Given the description of an element on the screen output the (x, y) to click on. 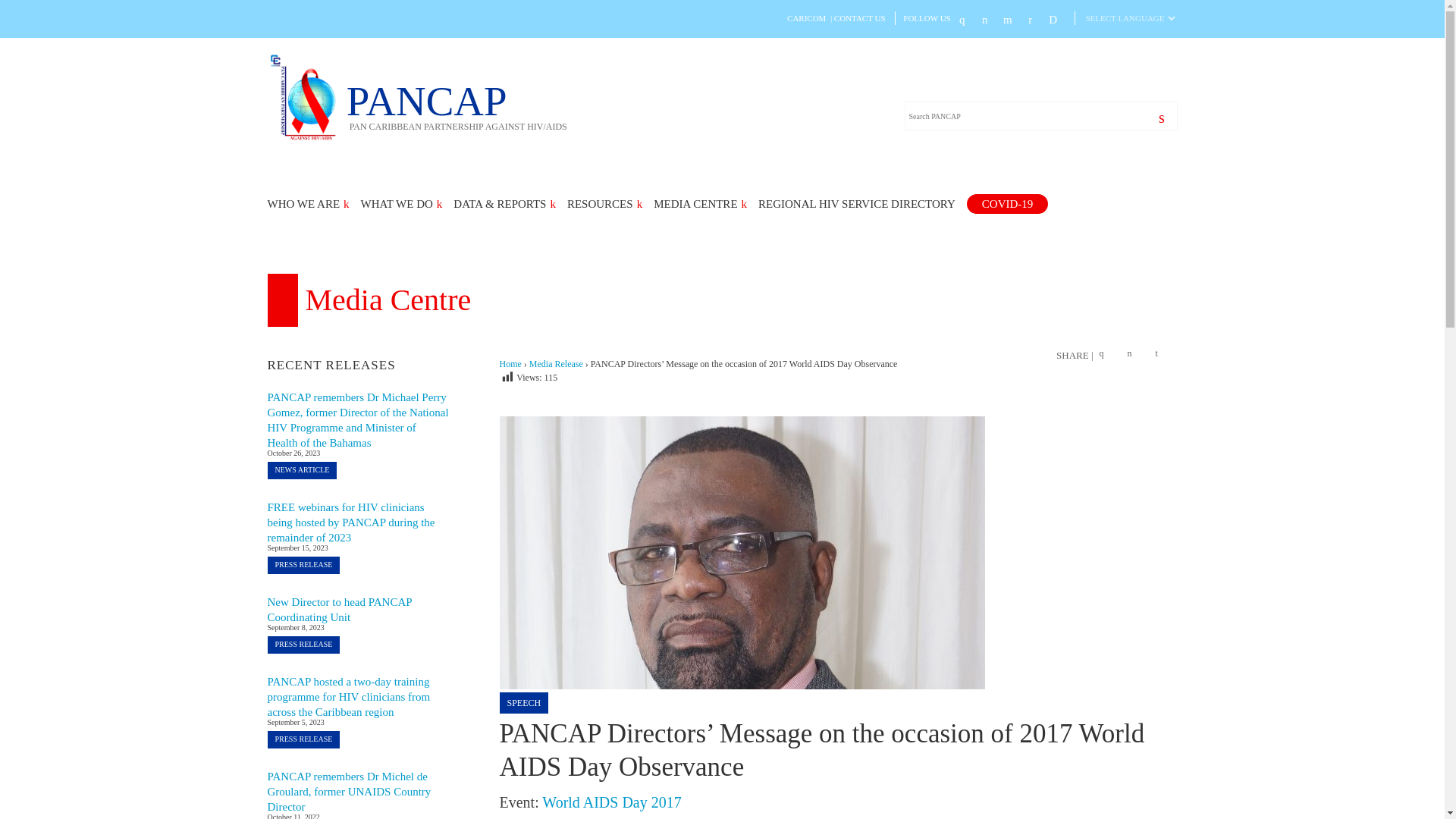
CARICOM (806, 17)
Click to share on Facebook (1105, 354)
New Director to head PANCAP Coordinating Unit (339, 609)
PANCAP (456, 105)
PANCAP (306, 138)
CONTACT US (859, 17)
